Given the description of an element on the screen output the (x, y) to click on. 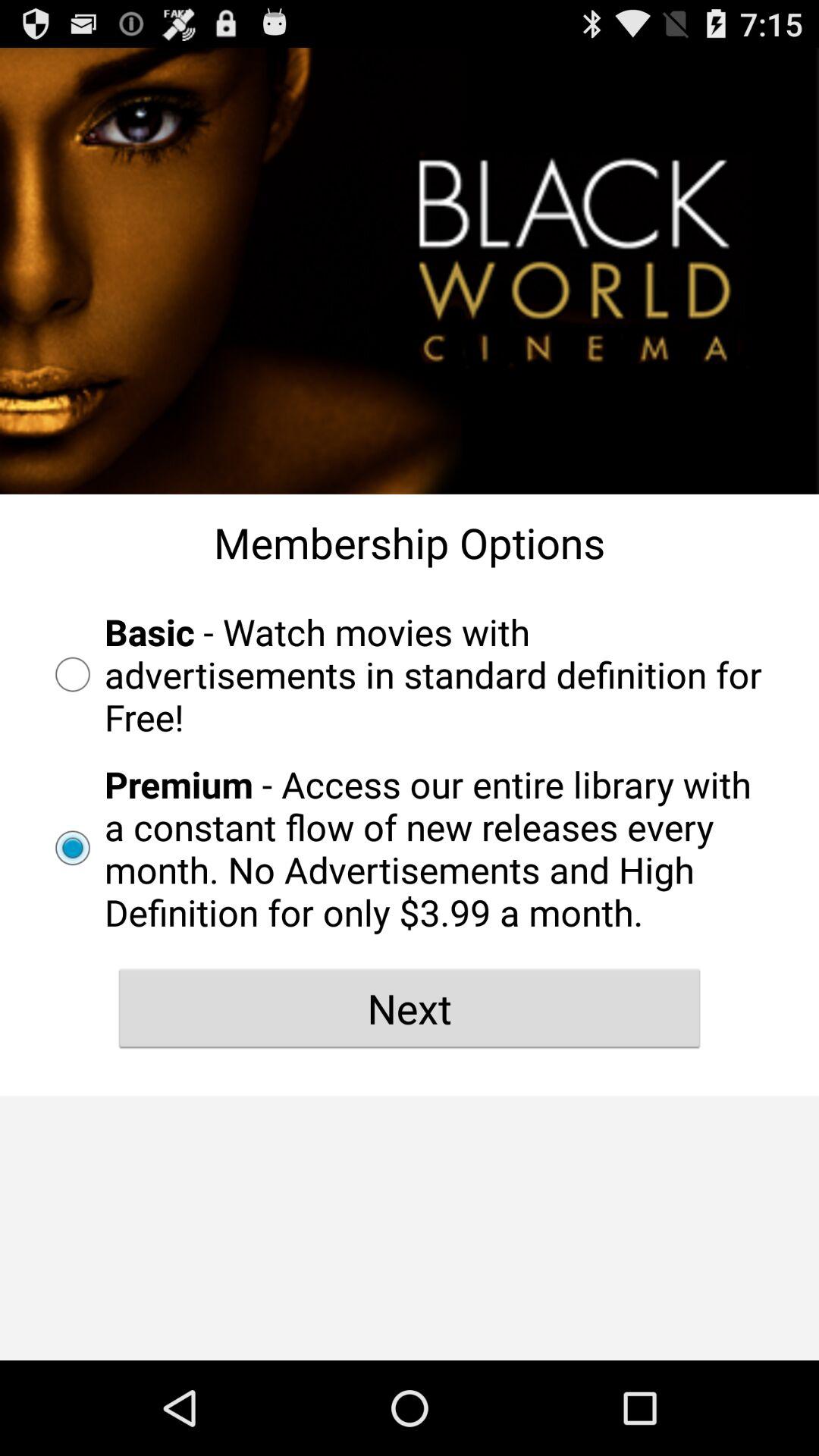
select the radio button below the basic watch movies radio button (409, 847)
